Given the description of an element on the screen output the (x, y) to click on. 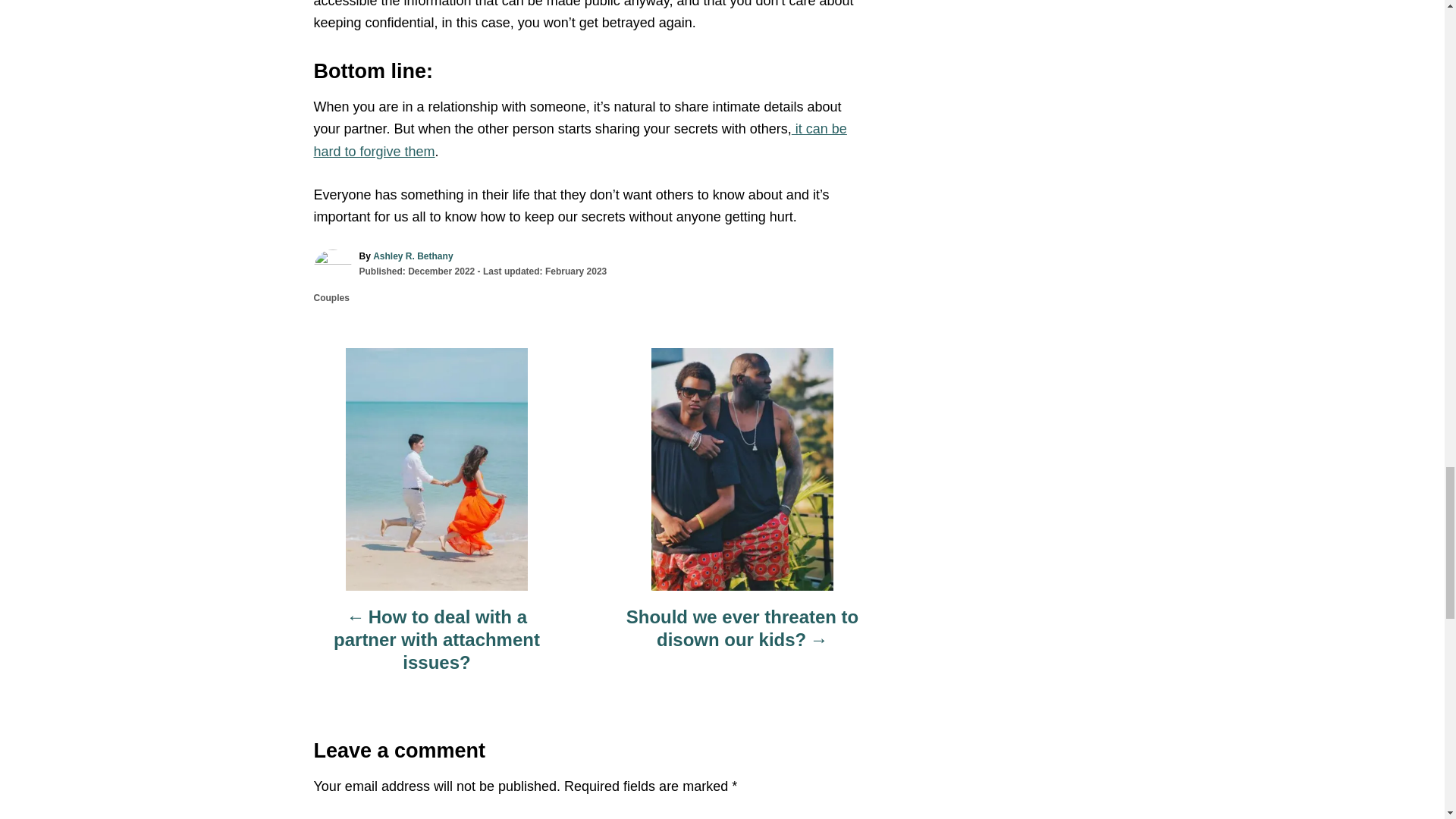
How to deal with a partner with attachment issues? (437, 647)
Should we ever threaten to disown our kids? (741, 636)
it can be hard to forgive them (580, 139)
Couples (331, 297)
Ashley R. Bethany (412, 255)
